Given the description of an element on the screen output the (x, y) to click on. 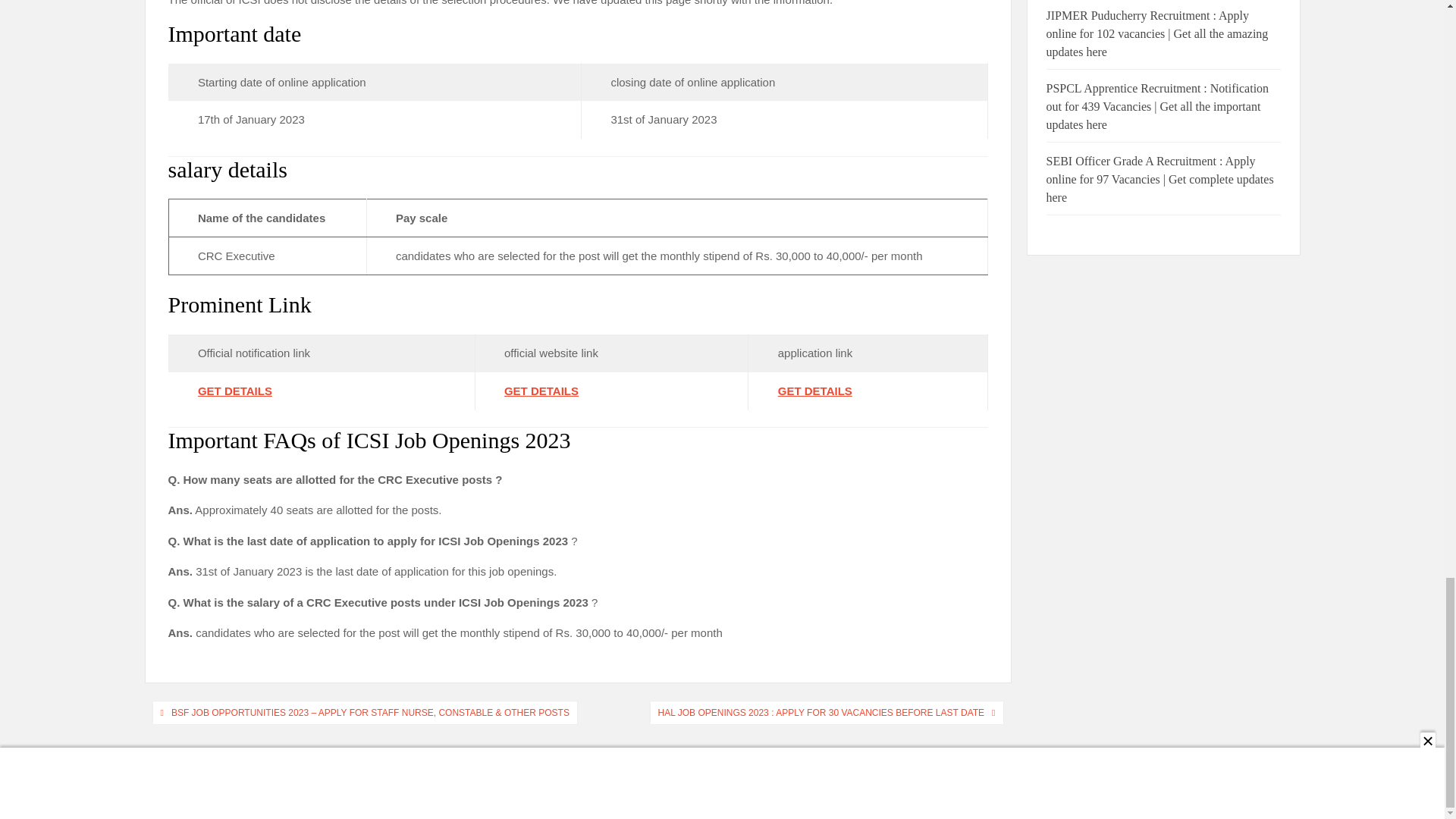
GET DETAILS (235, 390)
GET DETAILS (540, 390)
